Given the description of an element on the screen output the (x, y) to click on. 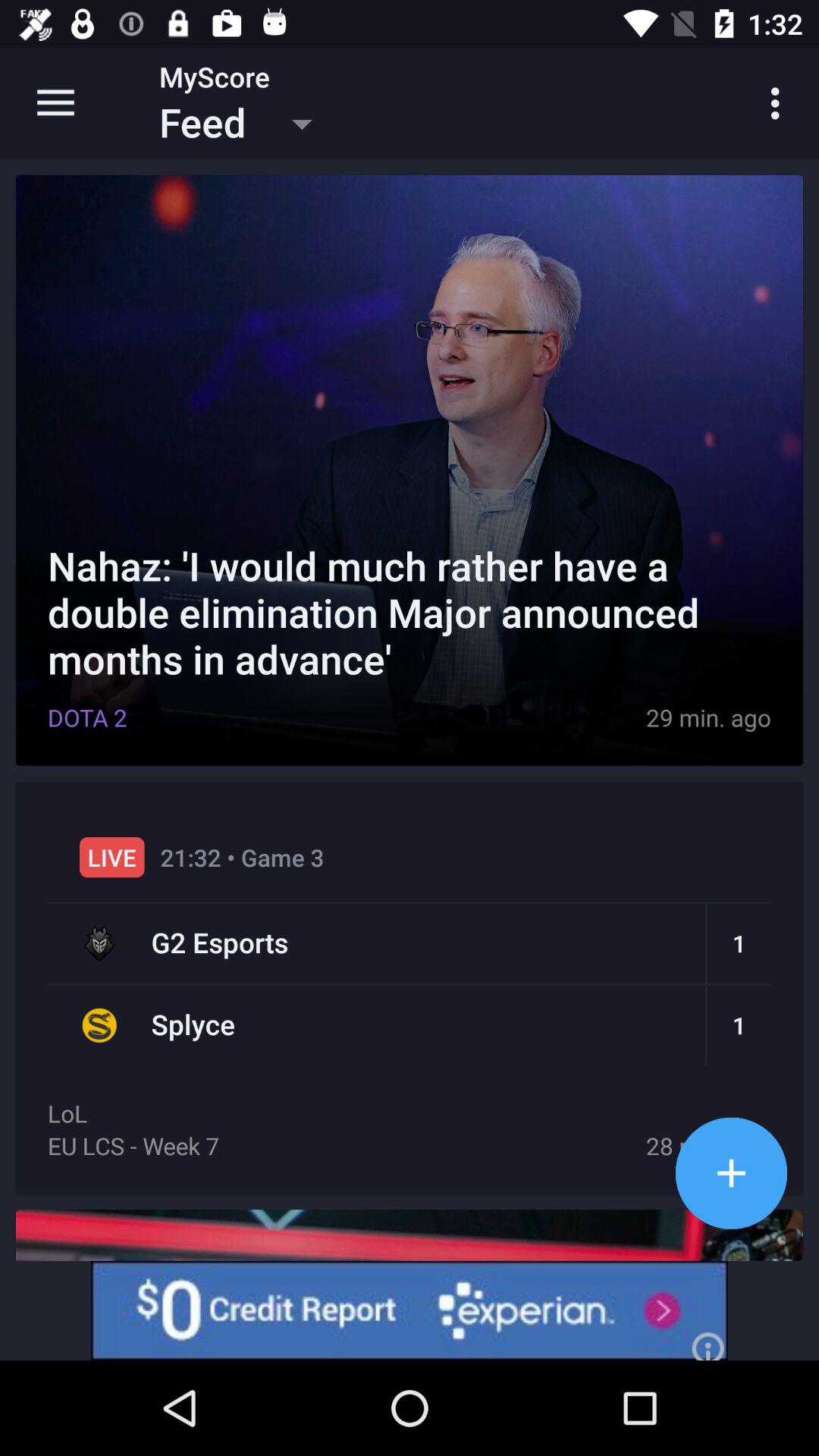
click on experion advertisement (409, 1310)
